Given the description of an element on the screen output the (x, y) to click on. 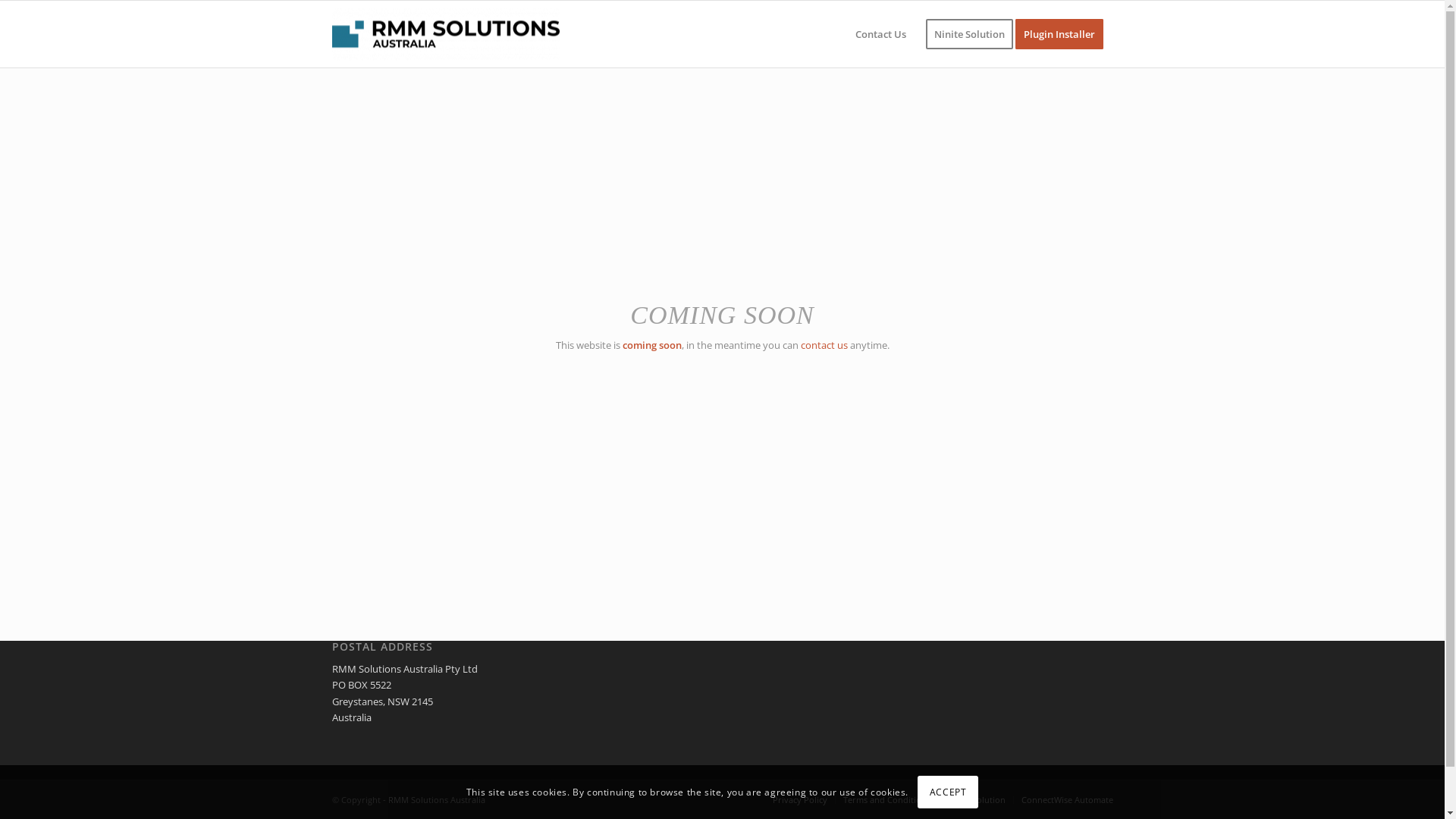
Privacy Policy Element type: text (798, 799)
ConnectWise Automate Element type: text (1066, 799)
Contact Us Element type: text (879, 33)
contact us Element type: text (823, 344)
Ninite Solution Element type: text (969, 33)
Plugin Installer Element type: text (1063, 33)
Terms and Conditions Element type: text (886, 799)
Ninite Solution Element type: text (975, 799)
ACCEPT Element type: text (947, 791)
